Given the description of an element on the screen output the (x, y) to click on. 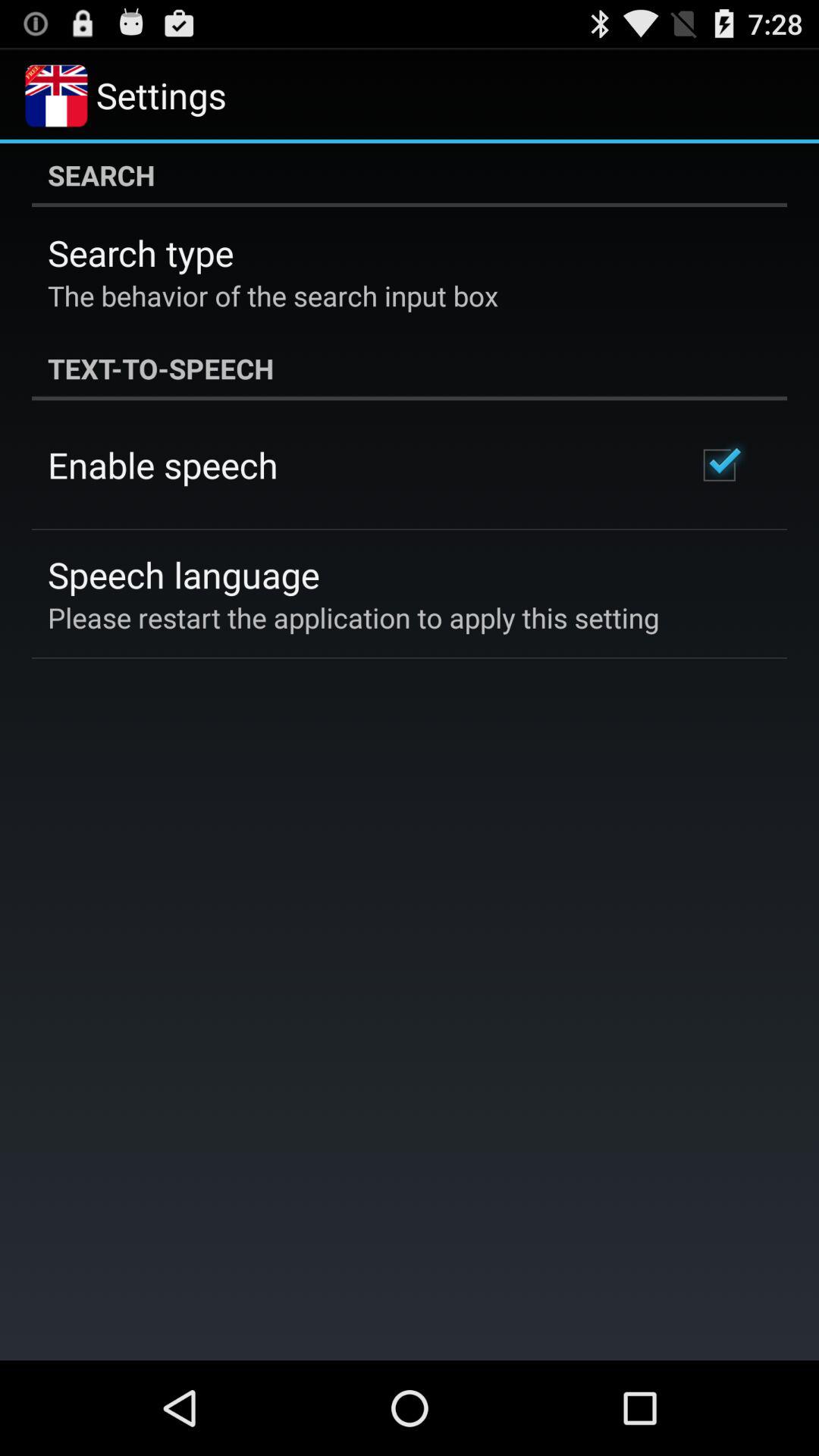
launch the please restart the app (353, 617)
